Given the description of an element on the screen output the (x, y) to click on. 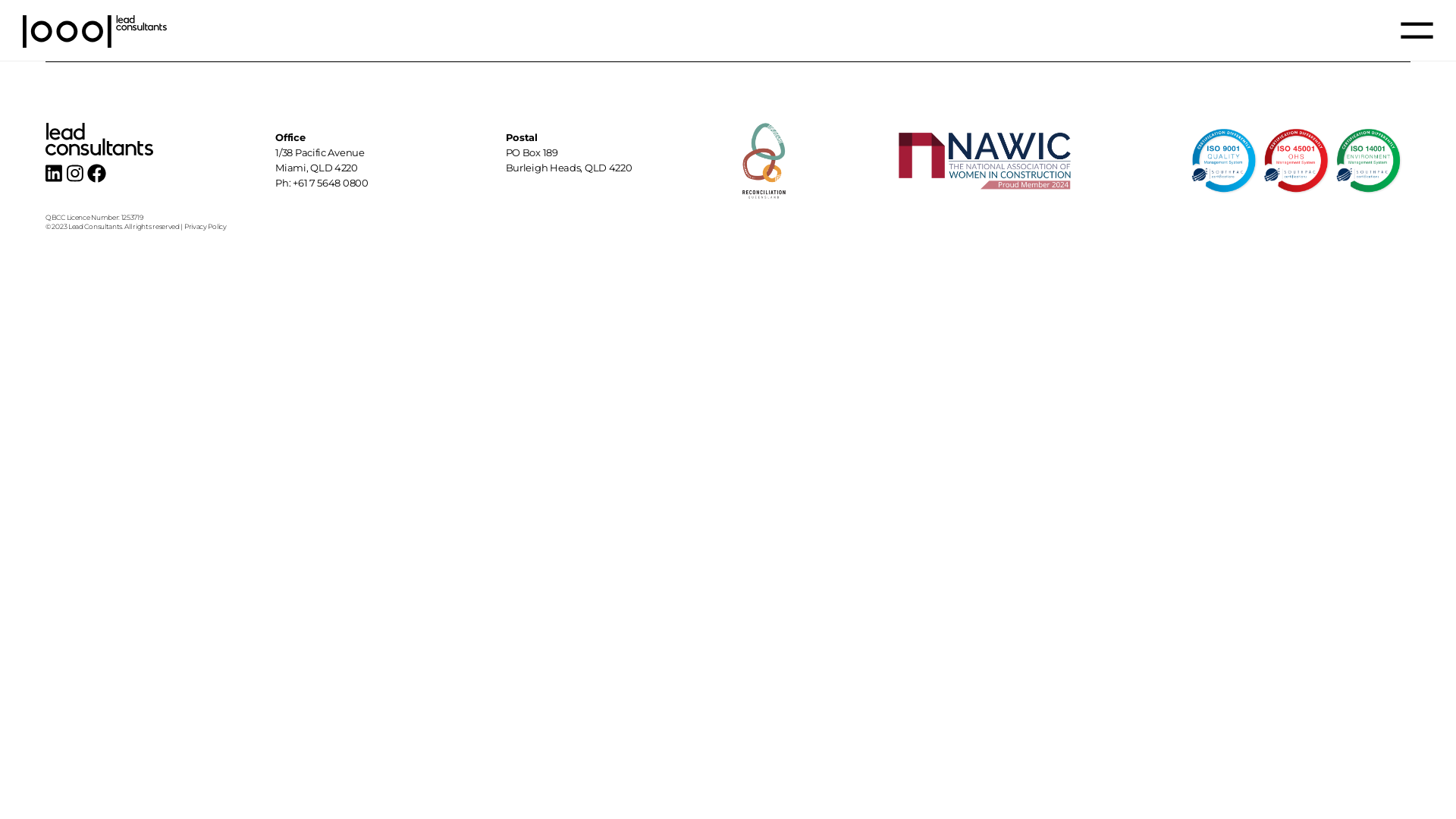
1/38 Pacific Avenue
Miami, QLD 4220 Element type: text (319, 159)
+61 7 5648 0800 Element type: text (330, 182)
